Given the description of an element on the screen output the (x, y) to click on. 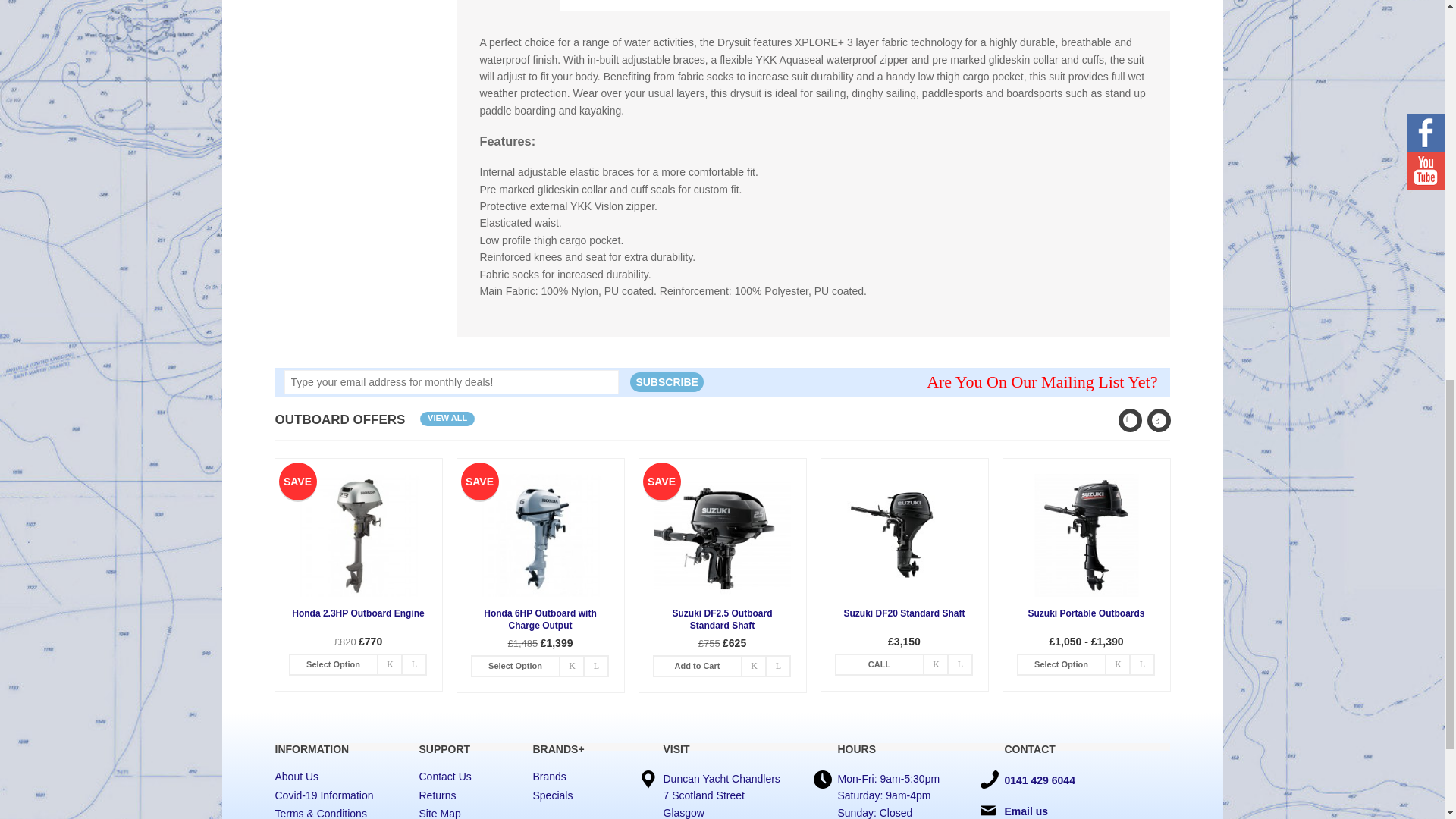
Add to Cart (515, 666)
Add to Wish List (389, 664)
Suzuki DF2.5 Outboard Standard Shaft (721, 535)
Add to Compare (413, 664)
Honda 2.3HP Outboard Engine (357, 535)
Add to Wish List (571, 666)
Add to Compare (595, 666)
Add to Cart (333, 664)
Honda 6HP Outboard with Charge Output (539, 535)
